Given the description of an element on the screen output the (x, y) to click on. 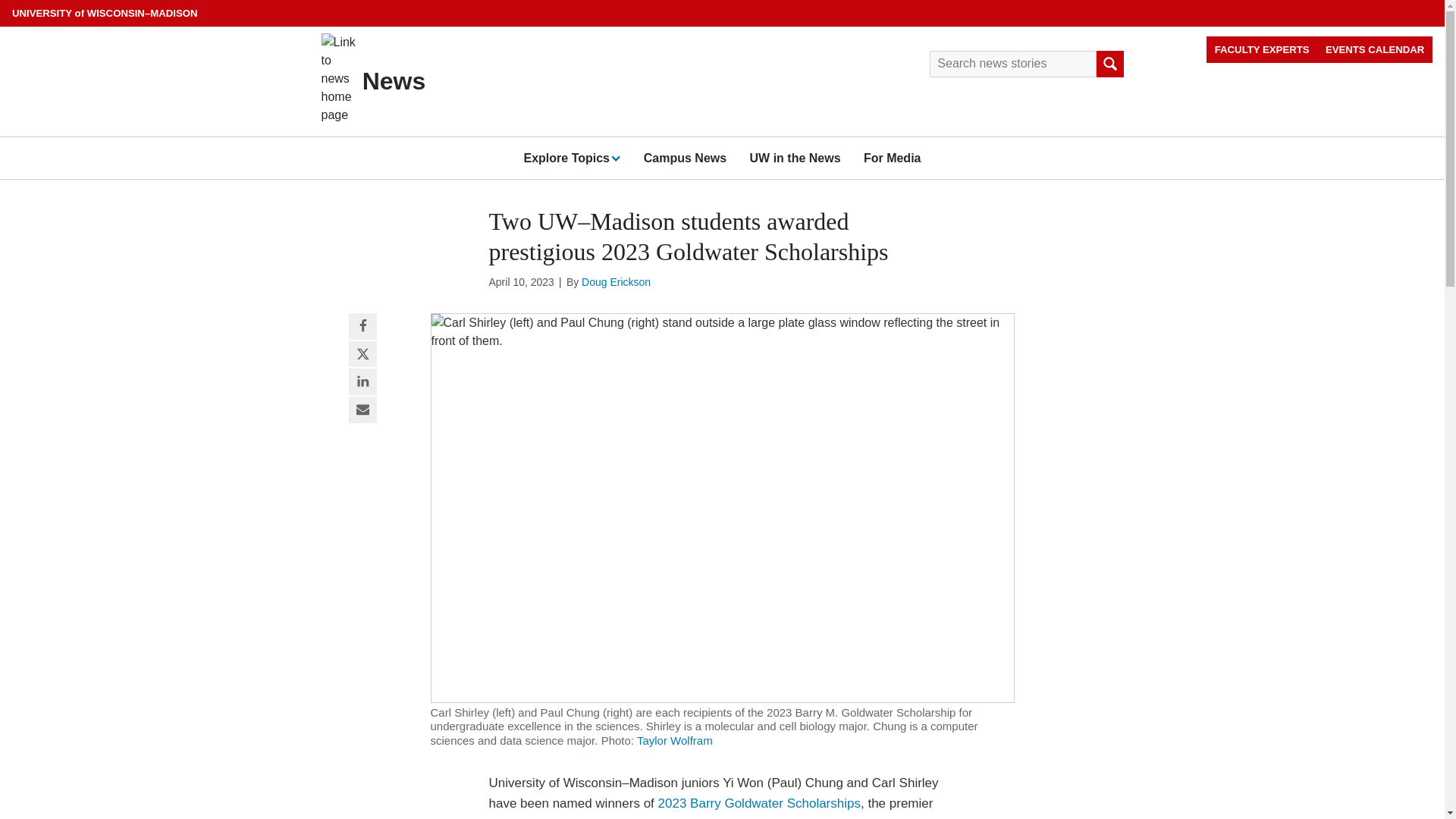
For Media (892, 157)
FACULTY EXPERTS (1262, 49)
Share via Linked In (362, 382)
Share via Facebook (362, 327)
Expand (615, 157)
Share via email (362, 410)
EVENTS CALENDAR (1374, 49)
2023 Barry Goldwater Scholarships (759, 803)
Campus News (684, 157)
Taylor Wolfram (675, 739)
UW in the News (795, 157)
Share via X, formerly Twitter (362, 354)
Explore TopicsExpand (571, 157)
Submit search (1109, 63)
Skip to main content (3, 3)
